Given the description of an element on the screen output the (x, y) to click on. 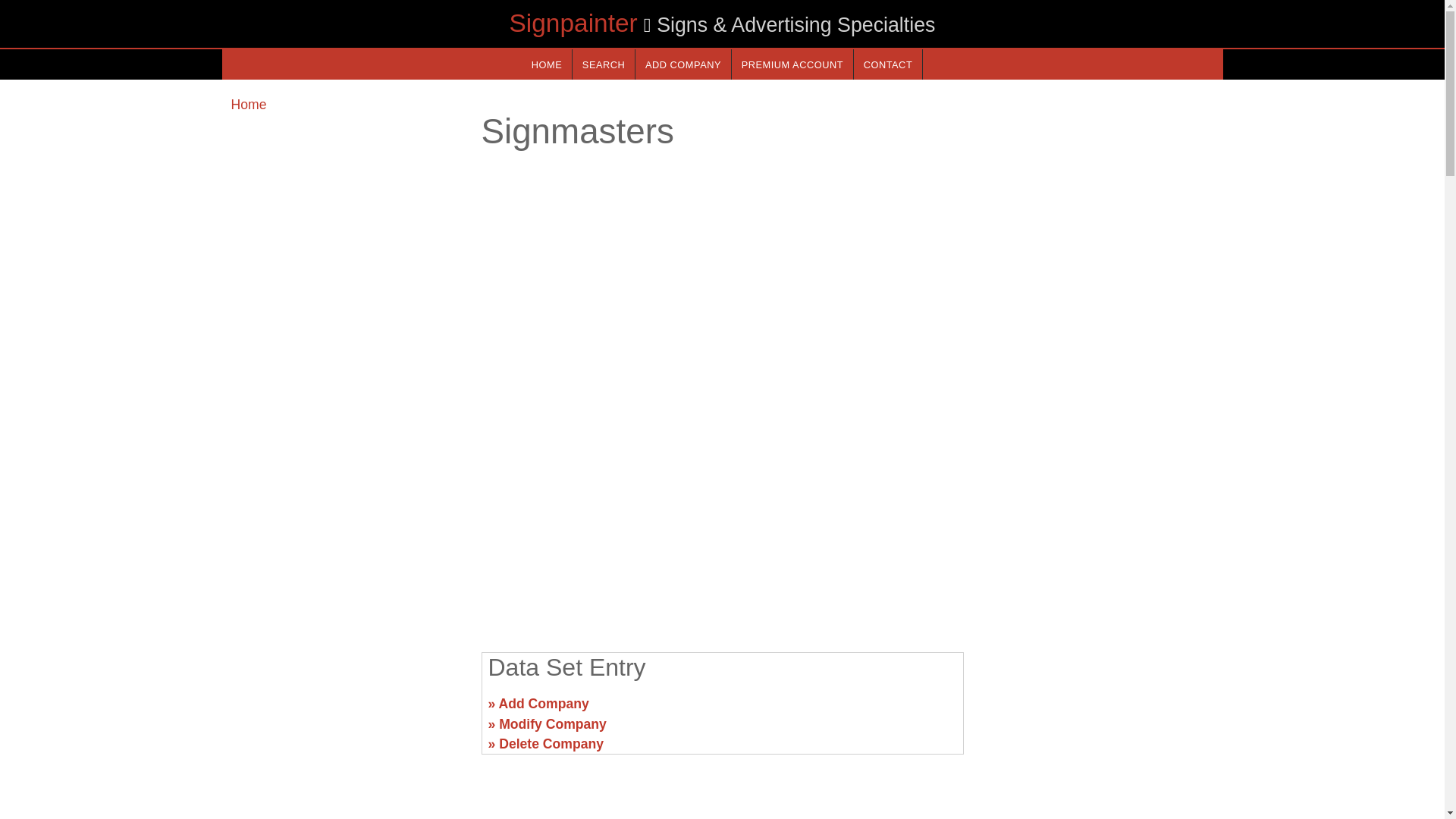
ADD COMPANY (682, 64)
Search in this webseite. (603, 64)
Advertisement (721, 522)
Add a new company (682, 64)
Advertisement (346, 710)
Advertisement (1096, 710)
HOME (546, 64)
CONTACT (887, 64)
SEARCH (603, 64)
Signpainter (573, 22)
